Given the description of an element on the screen output the (x, y) to click on. 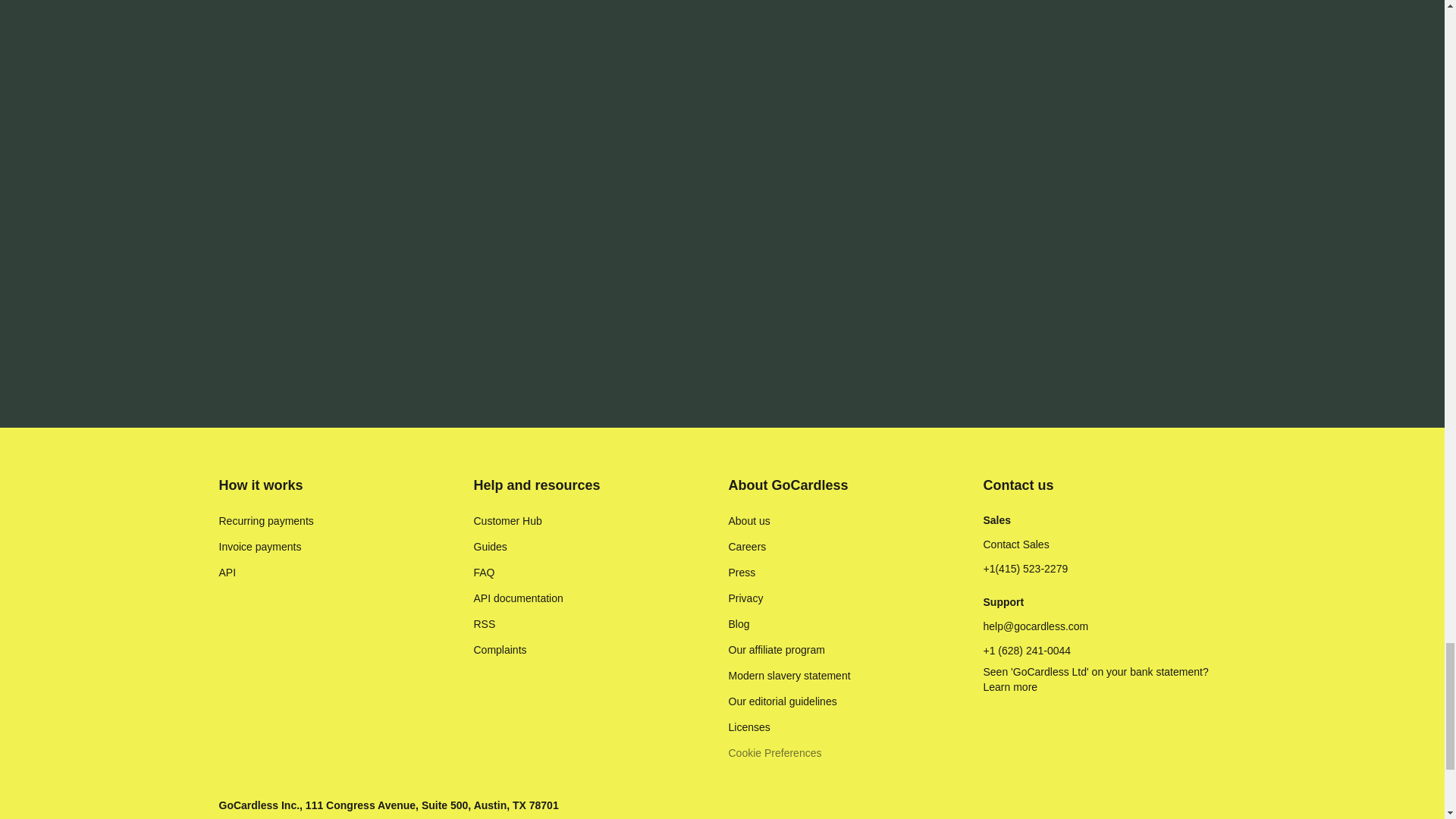
Press (741, 572)
API documentation (517, 598)
Blog (738, 623)
FAQ (484, 572)
About us (749, 520)
Customer Hub (507, 520)
Our affiliate program (776, 649)
Licenses (749, 726)
Invoice payments (259, 546)
Recurring payments (265, 520)
